Given the description of an element on the screen output the (x, y) to click on. 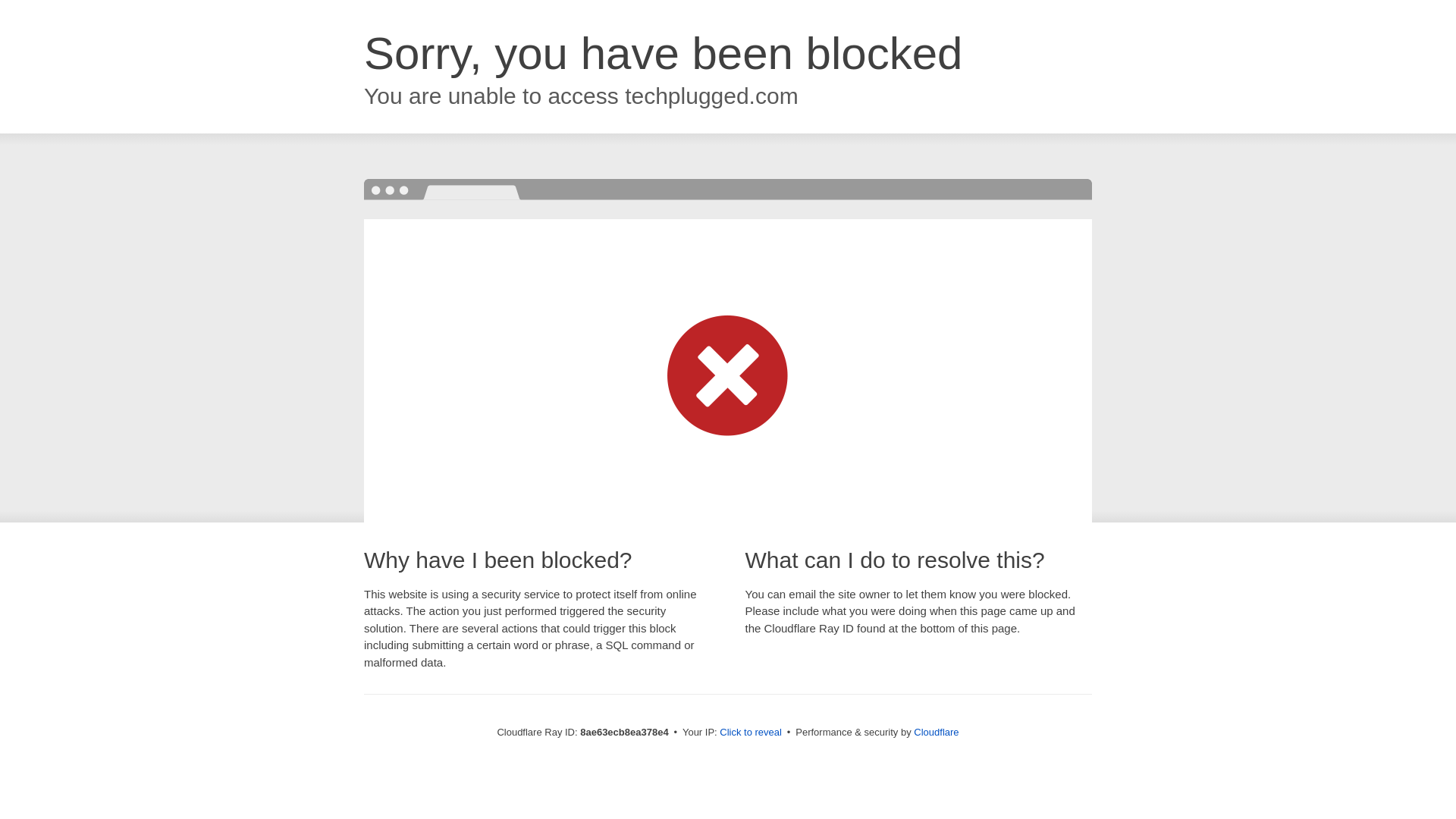
Cloudflare (936, 731)
Click to reveal (750, 732)
